Given the description of an element on the screen output the (x, y) to click on. 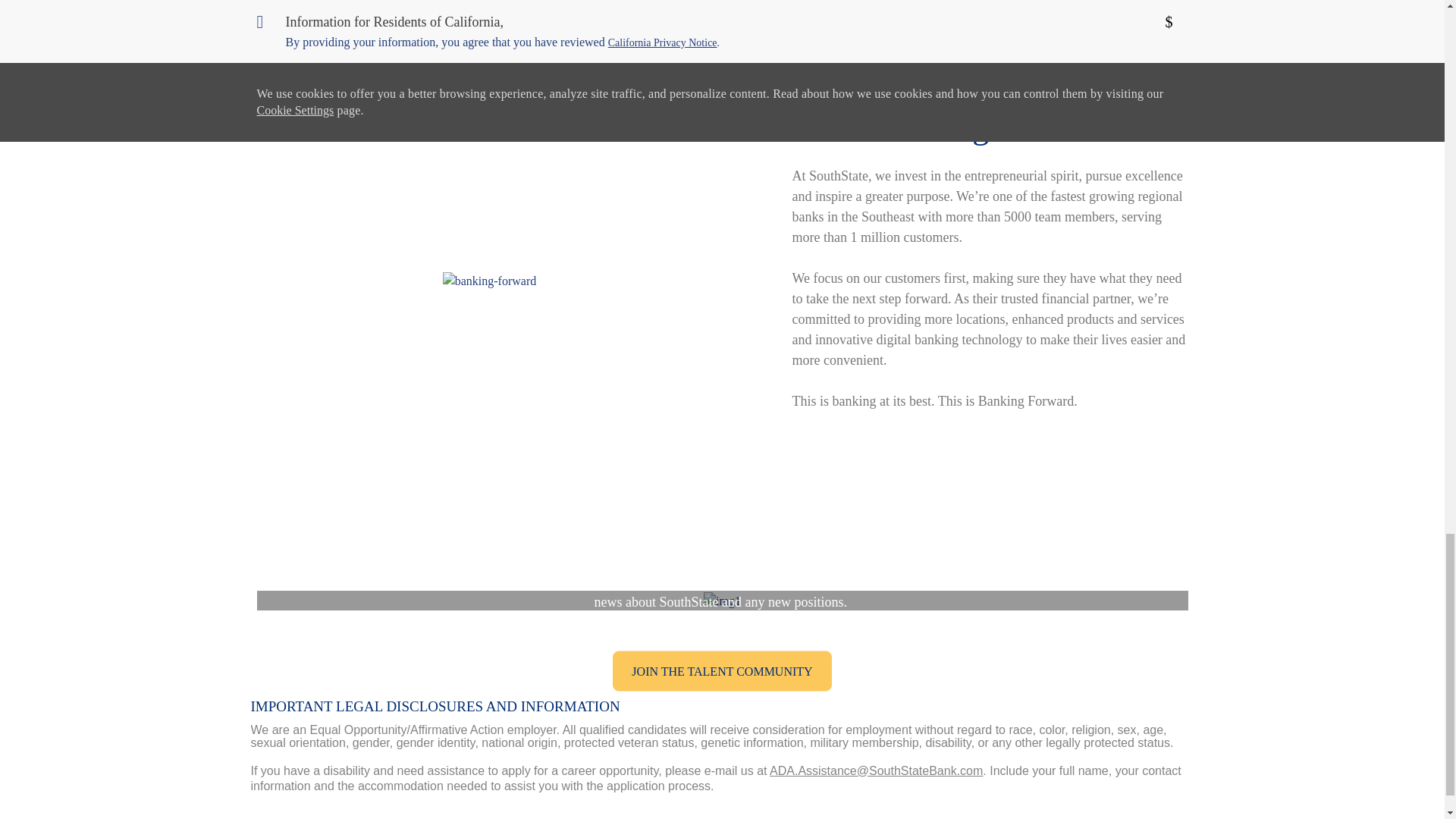
Lorem Ipsum (721, 670)
